Given the description of an element on the screen output the (x, y) to click on. 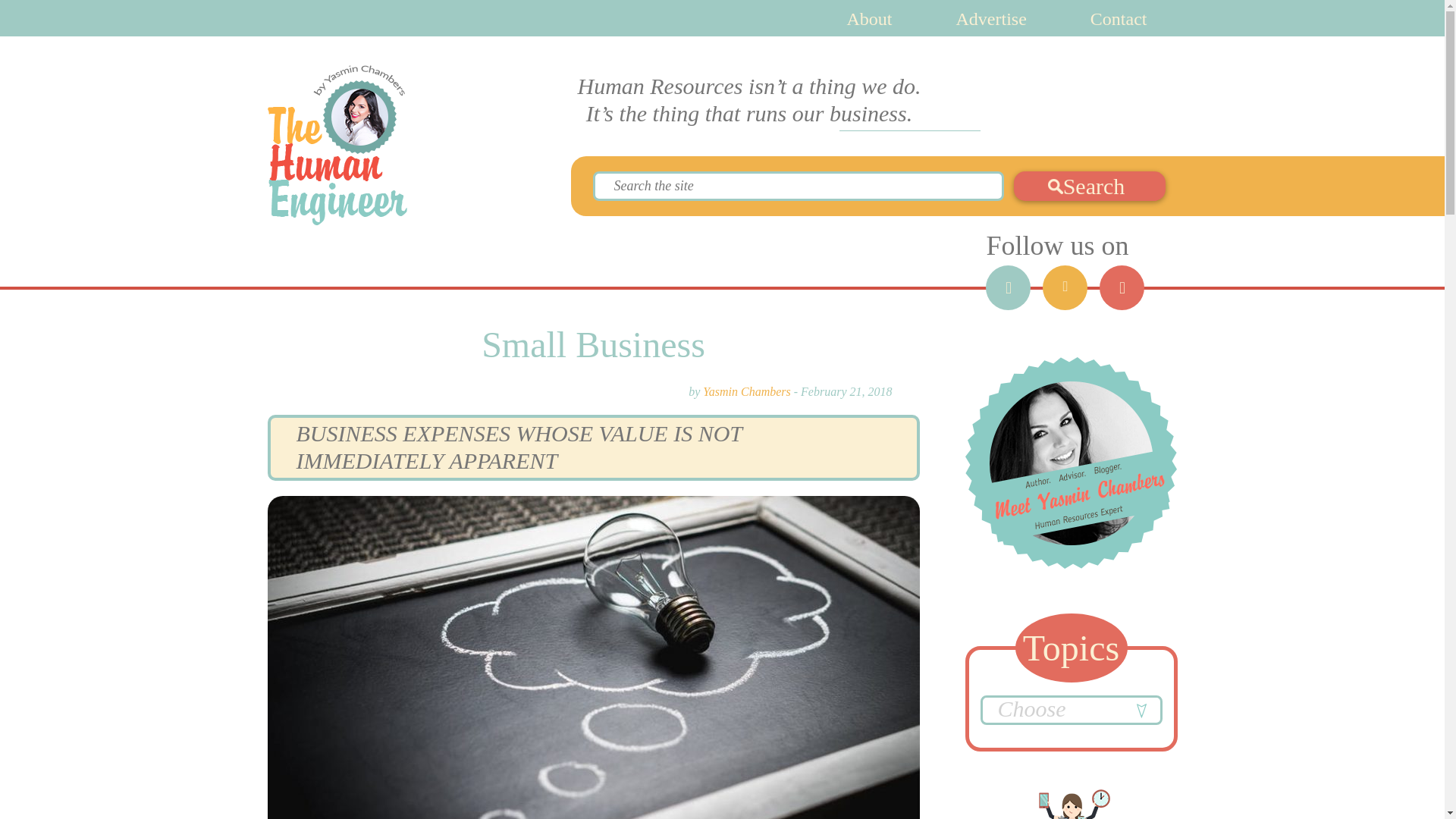
Small Business (592, 344)
Yasmin Chambers (746, 391)
Advertise (991, 18)
Search the site (798, 185)
Search (1088, 185)
About (869, 18)
Search (1088, 185)
Posts by Yasmin Chambers (746, 391)
Contact (1118, 18)
